Given the description of an element on the screen output the (x, y) to click on. 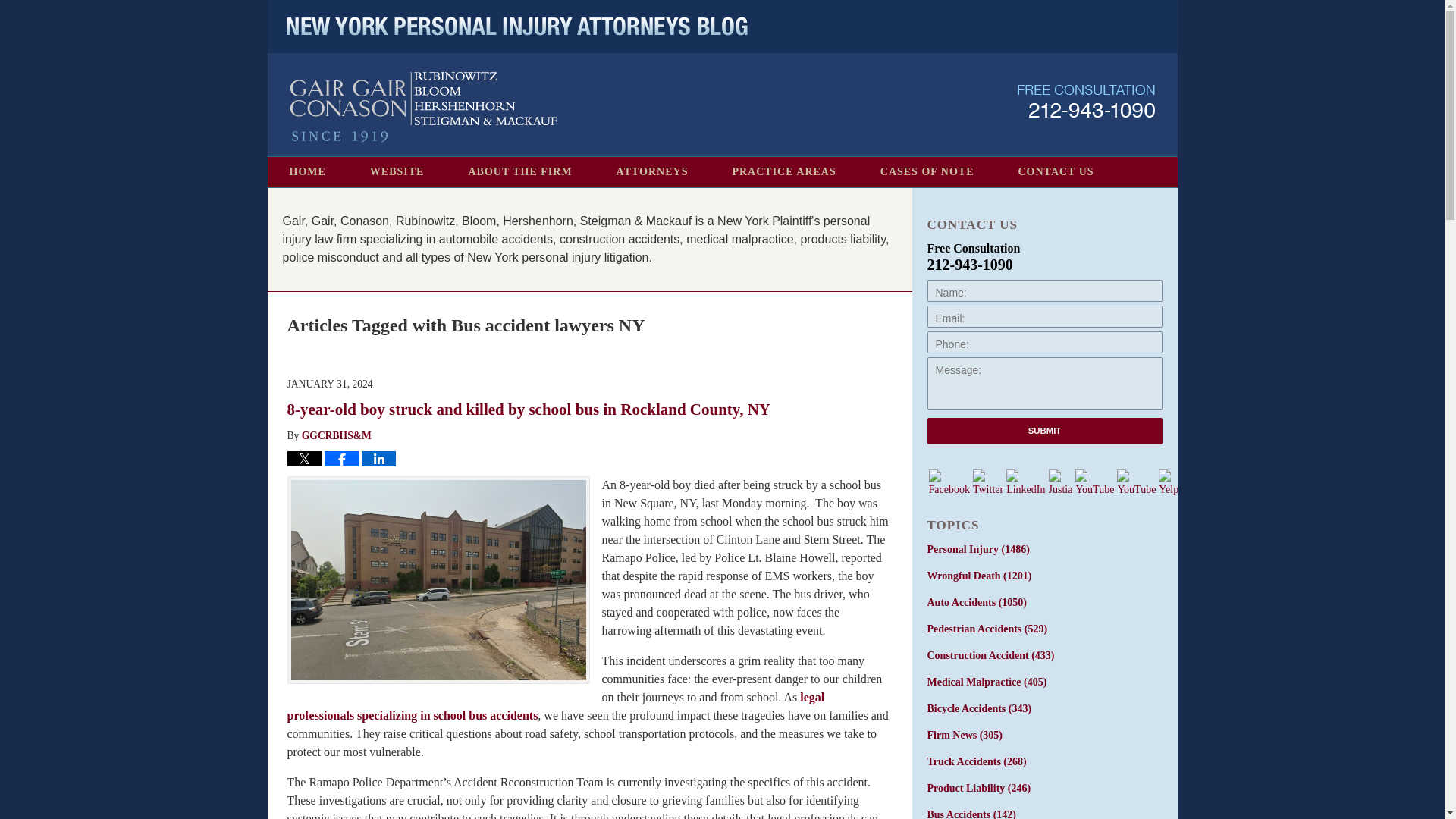
ABOUT THE FIRM (519, 172)
ATTORNEYS (652, 172)
legal professionals specializing in school bus accidents (555, 706)
PRACTICE AREAS (783, 172)
CASES OF NOTE (927, 172)
New York Personal Injury Attorneys Blog (422, 107)
WEBSITE (396, 172)
HOME (306, 172)
